Given the description of an element on the screen output the (x, y) to click on. 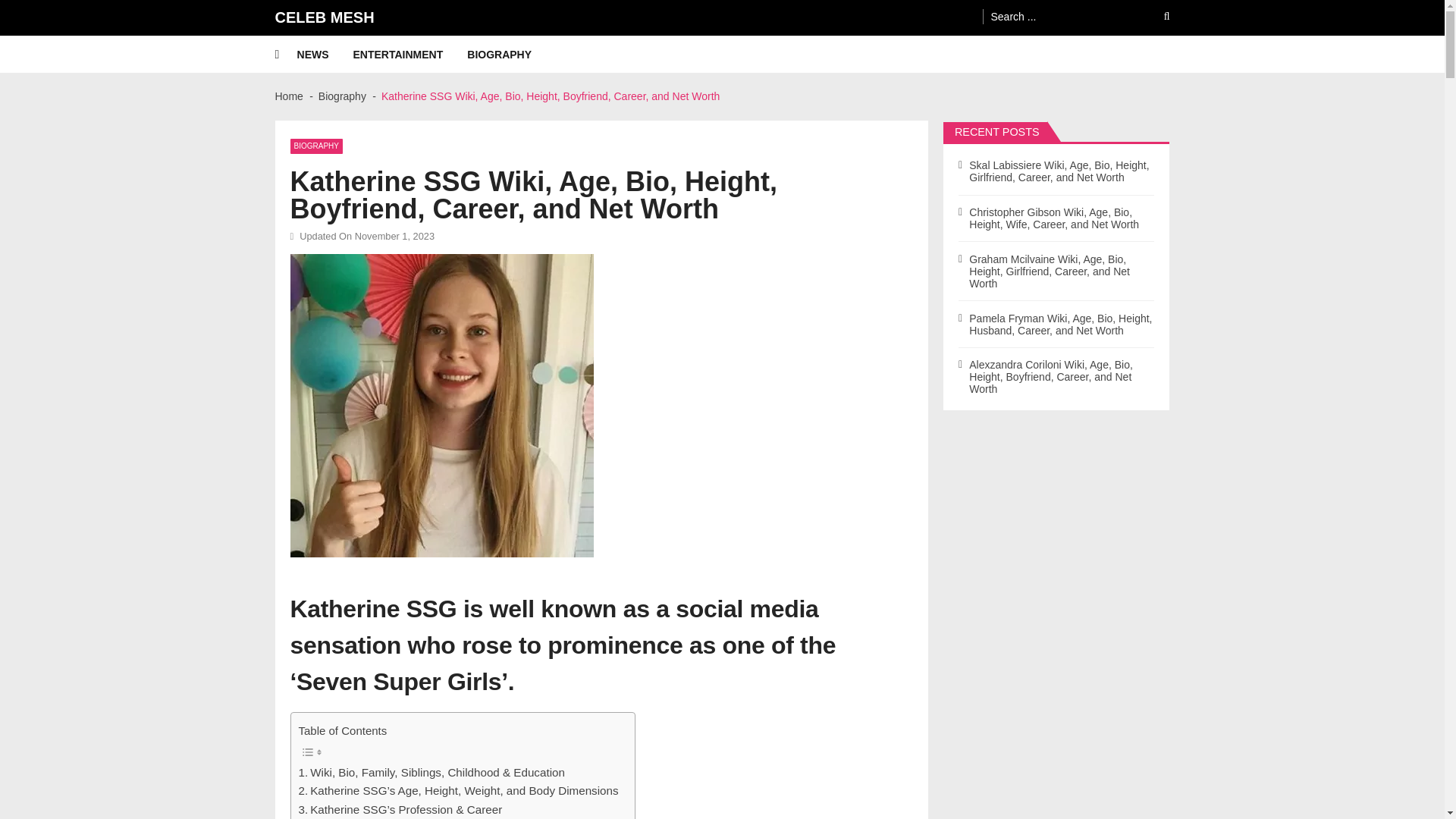
BIOGRAPHY (511, 54)
Biography (342, 96)
NEWS (325, 54)
BIOGRAPHY (315, 145)
ENTERTAINMENT (410, 54)
Search (1156, 15)
Search (1156, 15)
Search (1156, 15)
CELEB MESH (324, 17)
Home (288, 96)
